Given the description of an element on the screen output the (x, y) to click on. 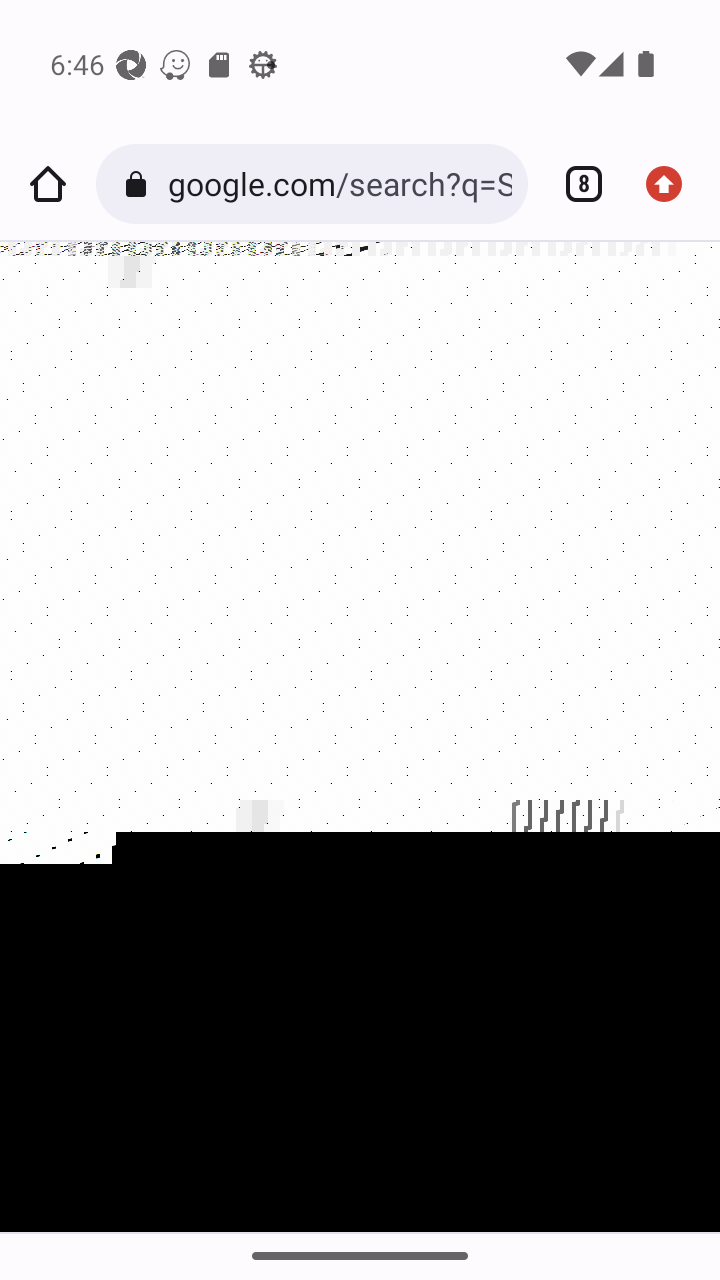
Home (47, 184)
Connection is secure (139, 184)
Switch or close tabs (575, 184)
Update available. More options (672, 184)
